Given the description of an element on the screen output the (x, y) to click on. 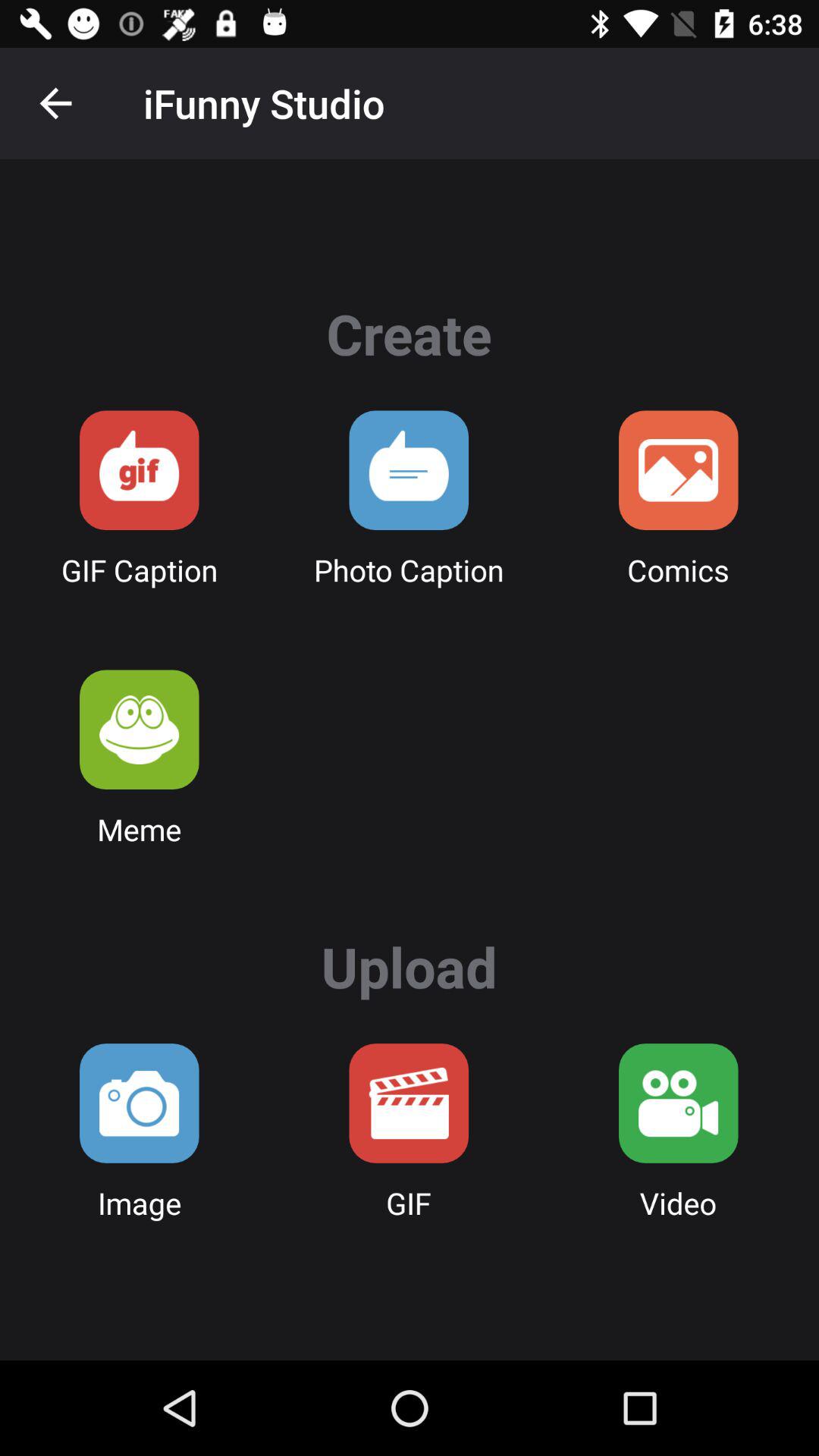
in this section you can easily make gitfs (139, 470)
